Given the description of an element on the screen output the (x, y) to click on. 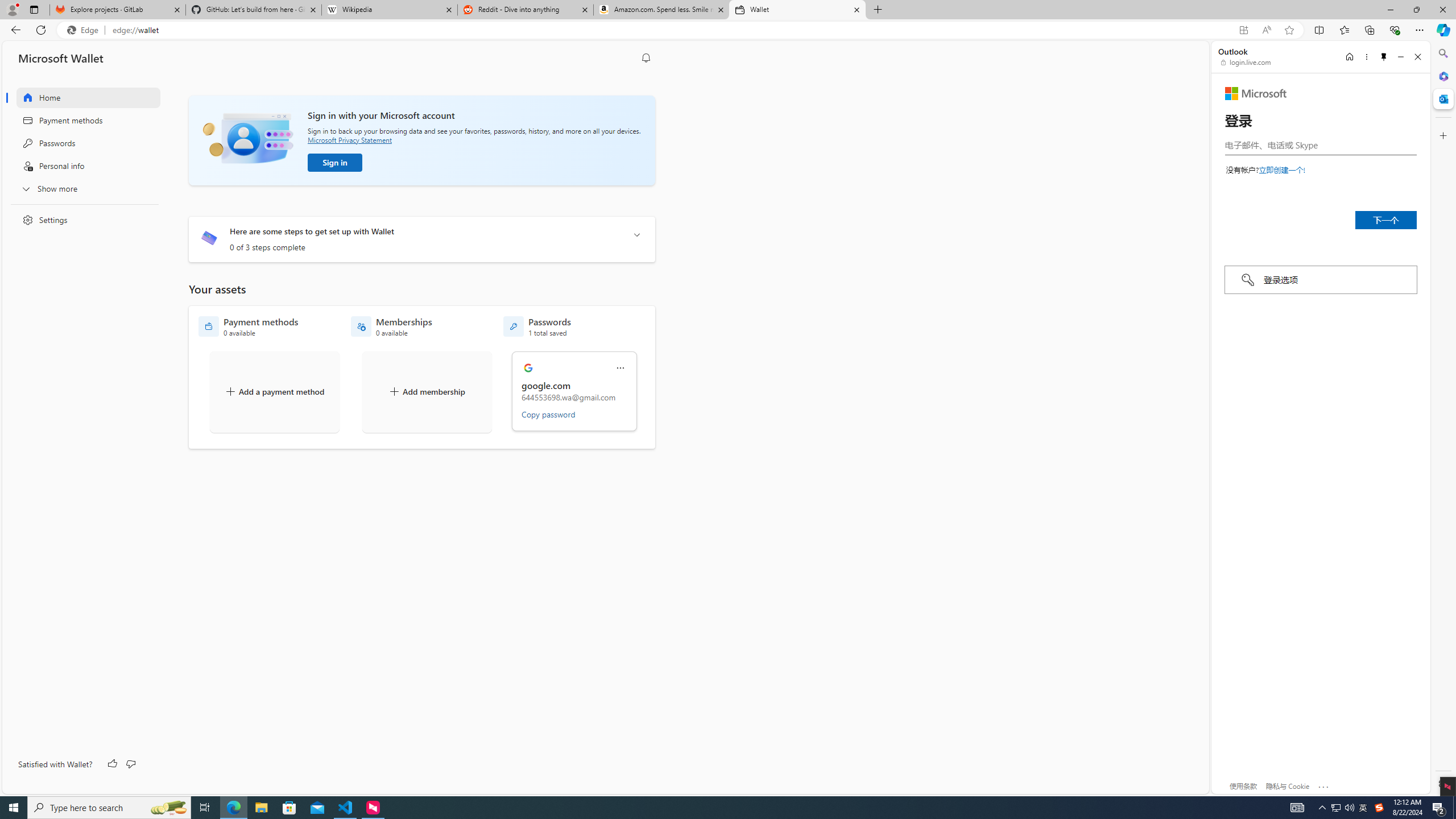
login.live.com (1246, 61)
Edge (84, 29)
Microsoft (1255, 93)
